Given the description of an element on the screen output the (x, y) to click on. 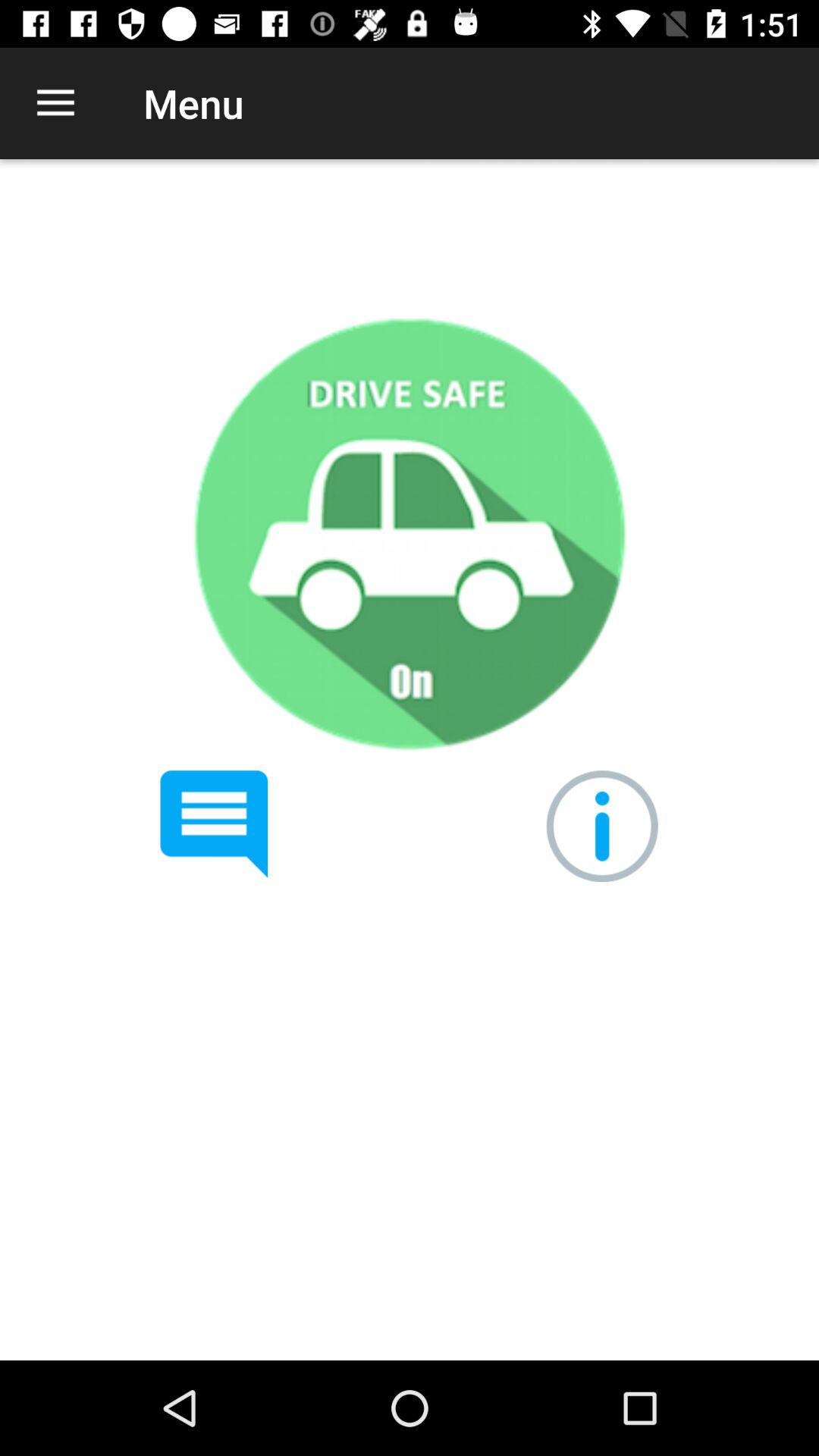
drive safe off (409, 533)
